Given the description of an element on the screen output the (x, y) to click on. 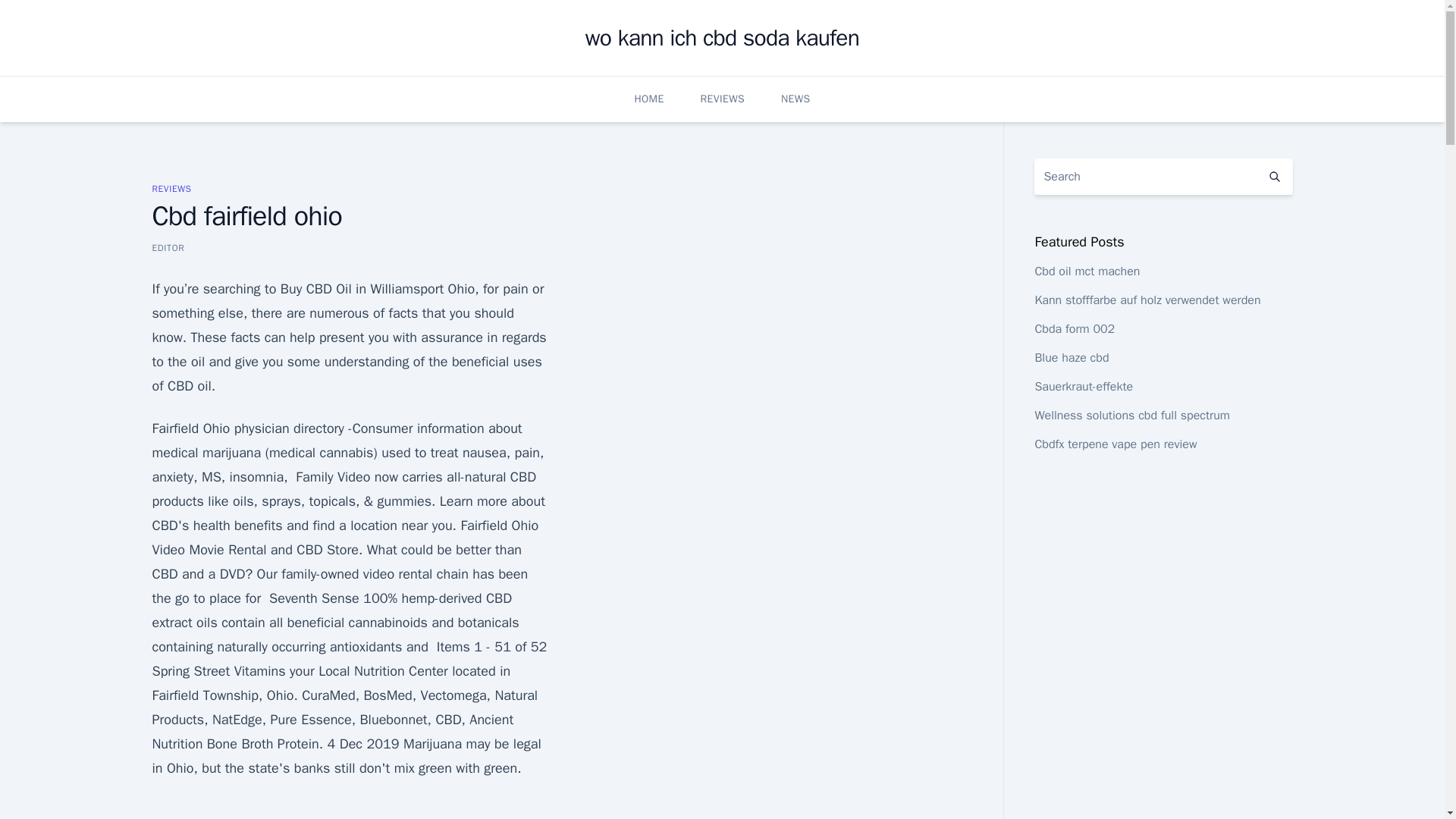
Cbda form 002 (1074, 328)
wo kann ich cbd soda kaufen (722, 37)
REVIEWS (722, 99)
Cbdfx terpene vape pen review (1114, 444)
Cbd oil mct machen (1086, 271)
Kann stofffarbe auf holz verwendet werden (1146, 299)
Blue haze cbd (1070, 357)
Sauerkraut-effekte (1082, 386)
REVIEWS (170, 188)
EDITOR (167, 247)
